Given the description of an element on the screen output the (x, y) to click on. 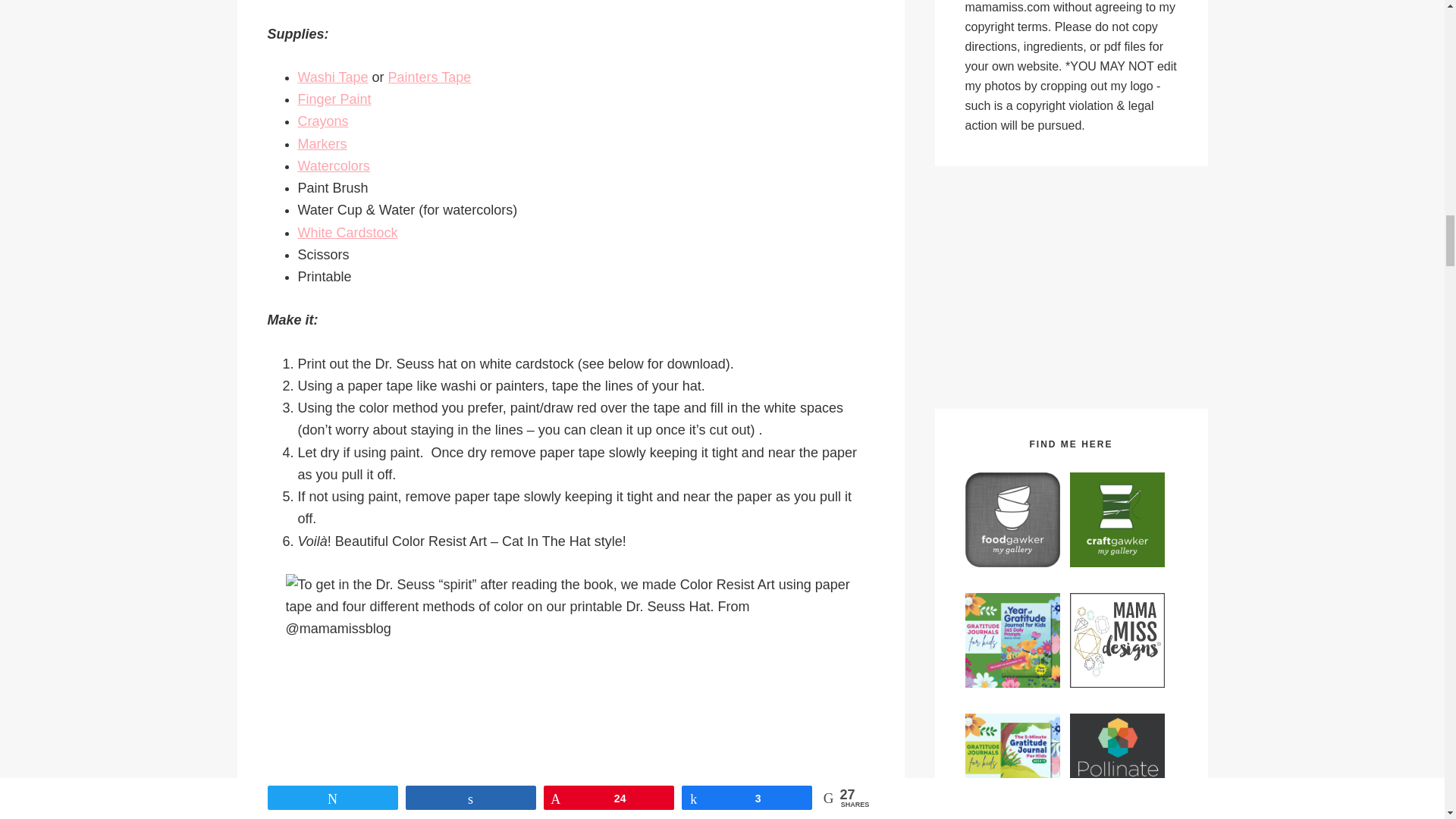
Crayons (322, 120)
Watercolors (333, 165)
Markers (321, 143)
White Cardstock (347, 232)
Washi Tape (332, 77)
Painters Tape (429, 77)
Finger Paint (334, 99)
